Given the description of an element on the screen output the (x, y) to click on. 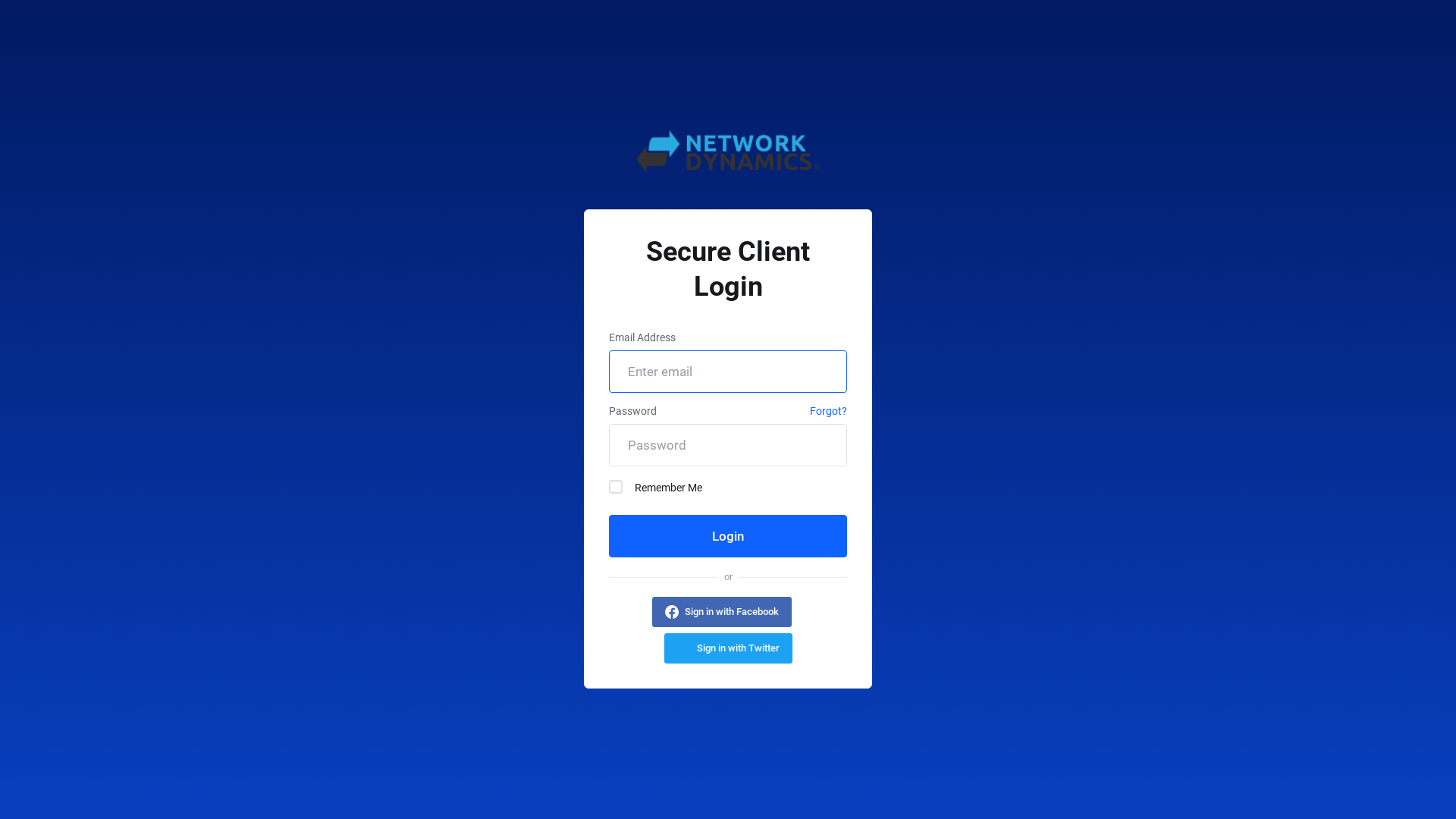
Sign in with Twitter Element type: text (728, 648)
Forgot? Element type: text (828, 412)
Network Dynamics Element type: hover (727, 151)
Sign in with Facebook Element type: text (721, 611)
Login Element type: text (727, 535)
